Given the description of an element on the screen output the (x, y) to click on. 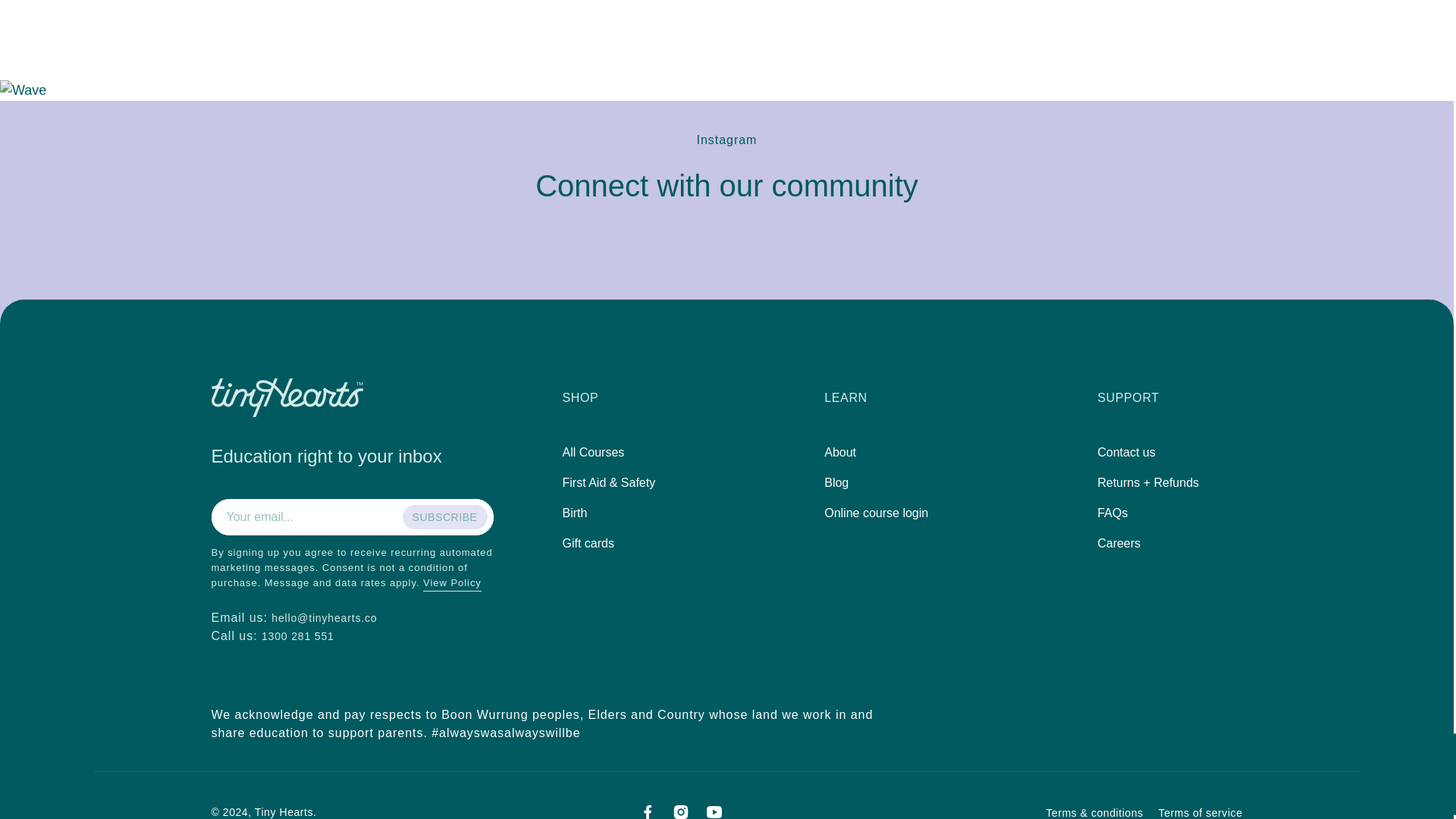
Privacy Policy (452, 582)
tel:1300281551 (298, 635)
